Given the description of an element on the screen output the (x, y) to click on. 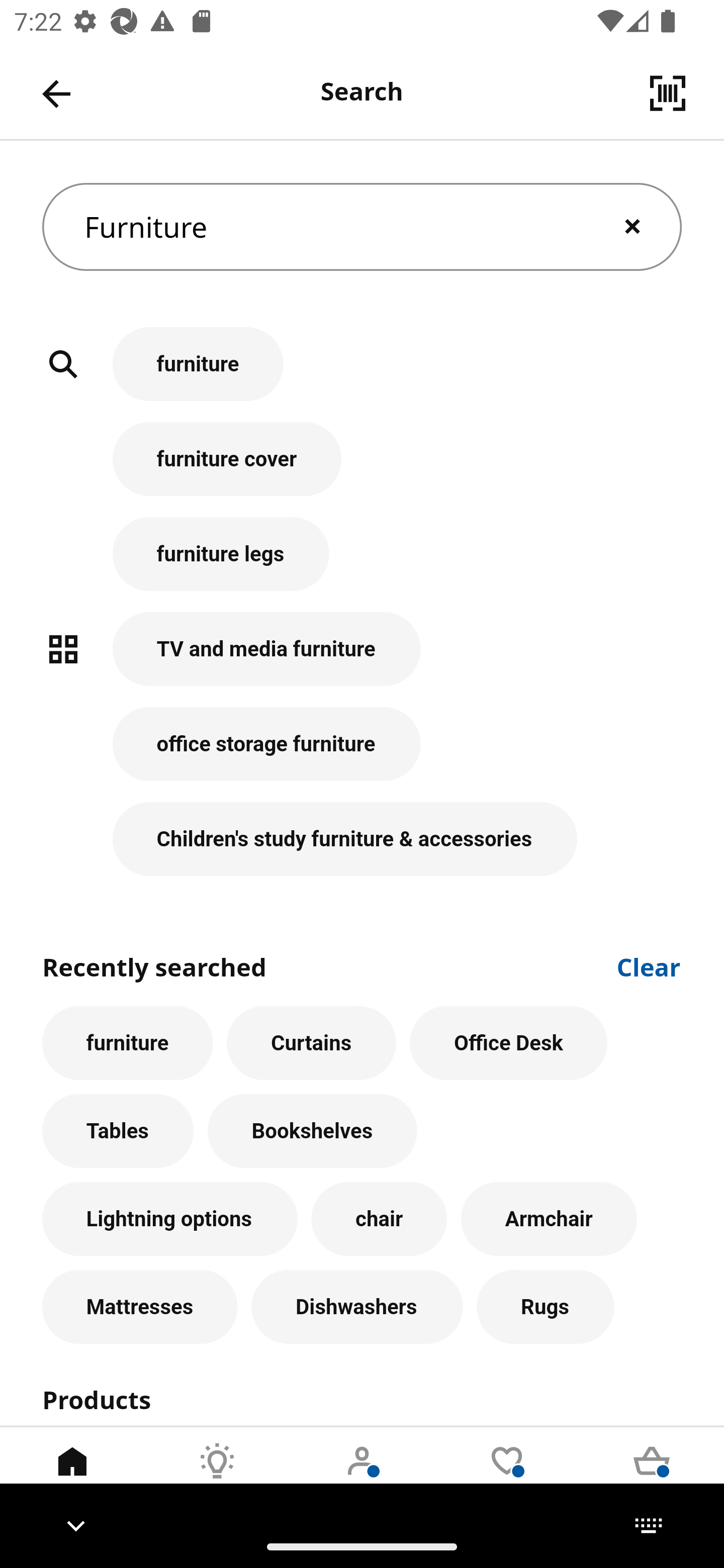
Furniture (361, 227)
furniture (361, 374)
furniture cover (361, 469)
furniture legs (361, 564)
TV and media furniture (361, 659)
office storage furniture (361, 754)
Children's study furniture & accessories (361, 839)
Clear (649, 965)
furniture (126, 1043)
Curtains (311, 1043)
Office Desk (508, 1043)
Tables (117, 1131)
Bookshelves (312, 1131)
Lightning options (169, 1218)
chair (379, 1218)
Armchair (549, 1218)
Mattresses (139, 1306)
Dishwashers (357, 1306)
Rugs (545, 1306)
Home
Tab 1 of 5 (72, 1476)
Inspirations
Tab 2 of 5 (216, 1476)
User
Tab 3 of 5 (361, 1476)
Wishlist
Tab 4 of 5 (506, 1476)
Cart
Tab 5 of 5 (651, 1476)
